Given the description of an element on the screen output the (x, y) to click on. 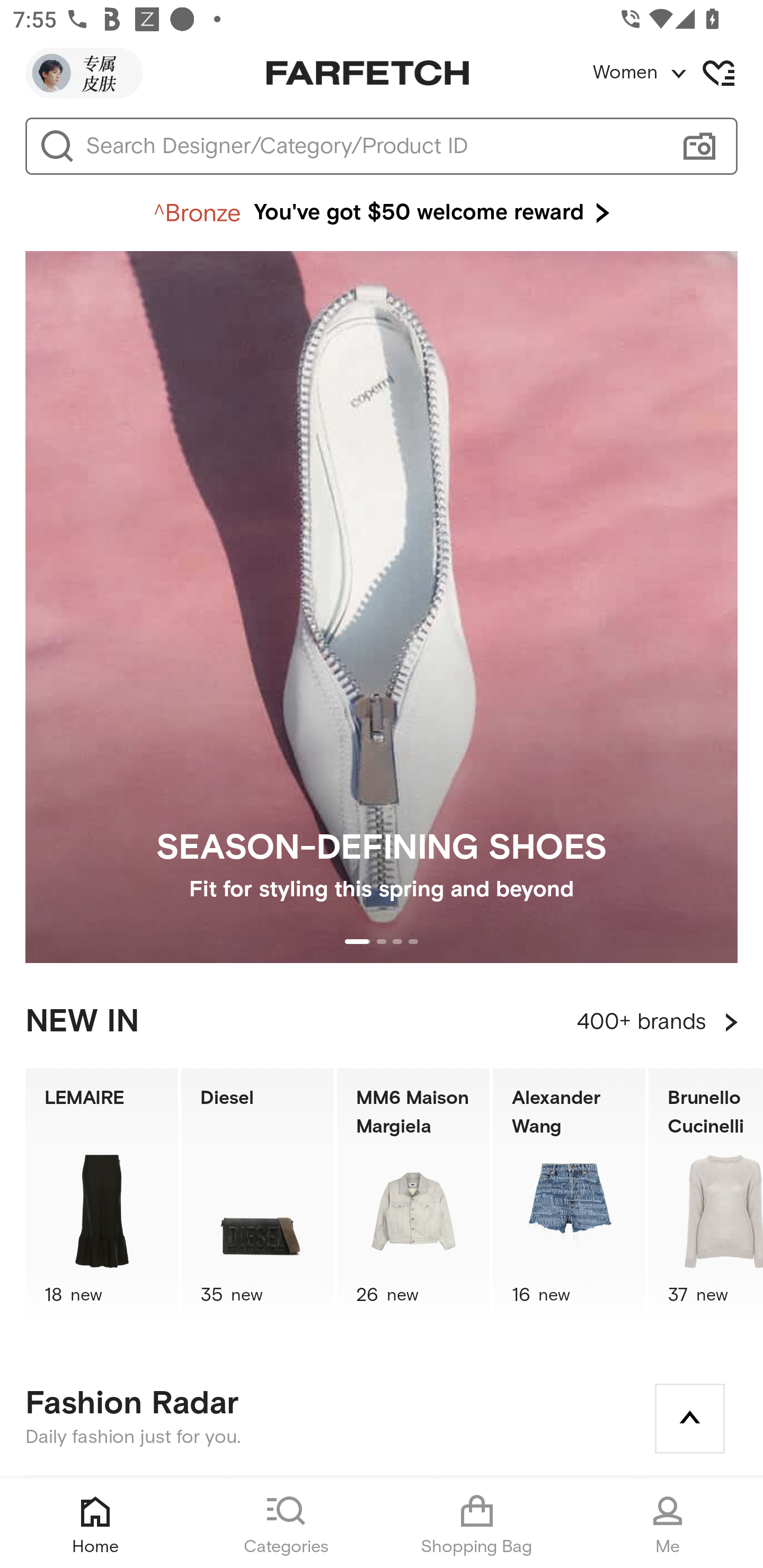
Women (677, 72)
Search Designer/Category/Product ID (373, 146)
You've got $50 welcome reward (381, 213)
NEW IN 400+ brands (381, 1021)
LEMAIRE 18  new (101, 1196)
Diesel 35  new (257, 1196)
MM6 Maison Margiela 26  new (413, 1196)
Alexander Wang 16  new (568, 1196)
Brunello Cucinelli 37  new (705, 1196)
Categories (285, 1523)
Shopping Bag (476, 1523)
Me (667, 1523)
